Given the description of an element on the screen output the (x, y) to click on. 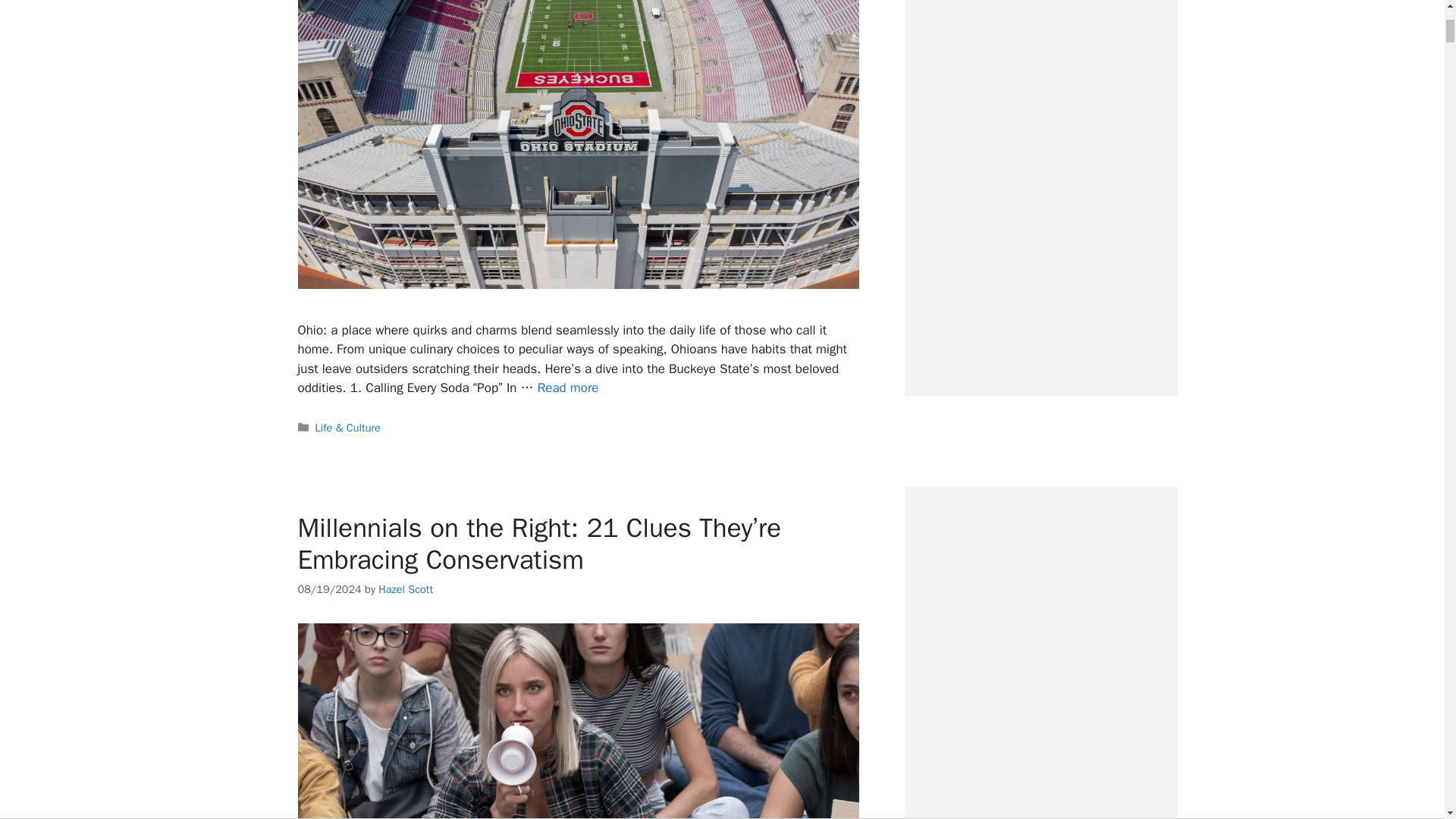
Read more (567, 387)
View all posts by Hazel Scott (405, 589)
Hazel Scott (405, 589)
